Given the description of an element on the screen output the (x, y) to click on. 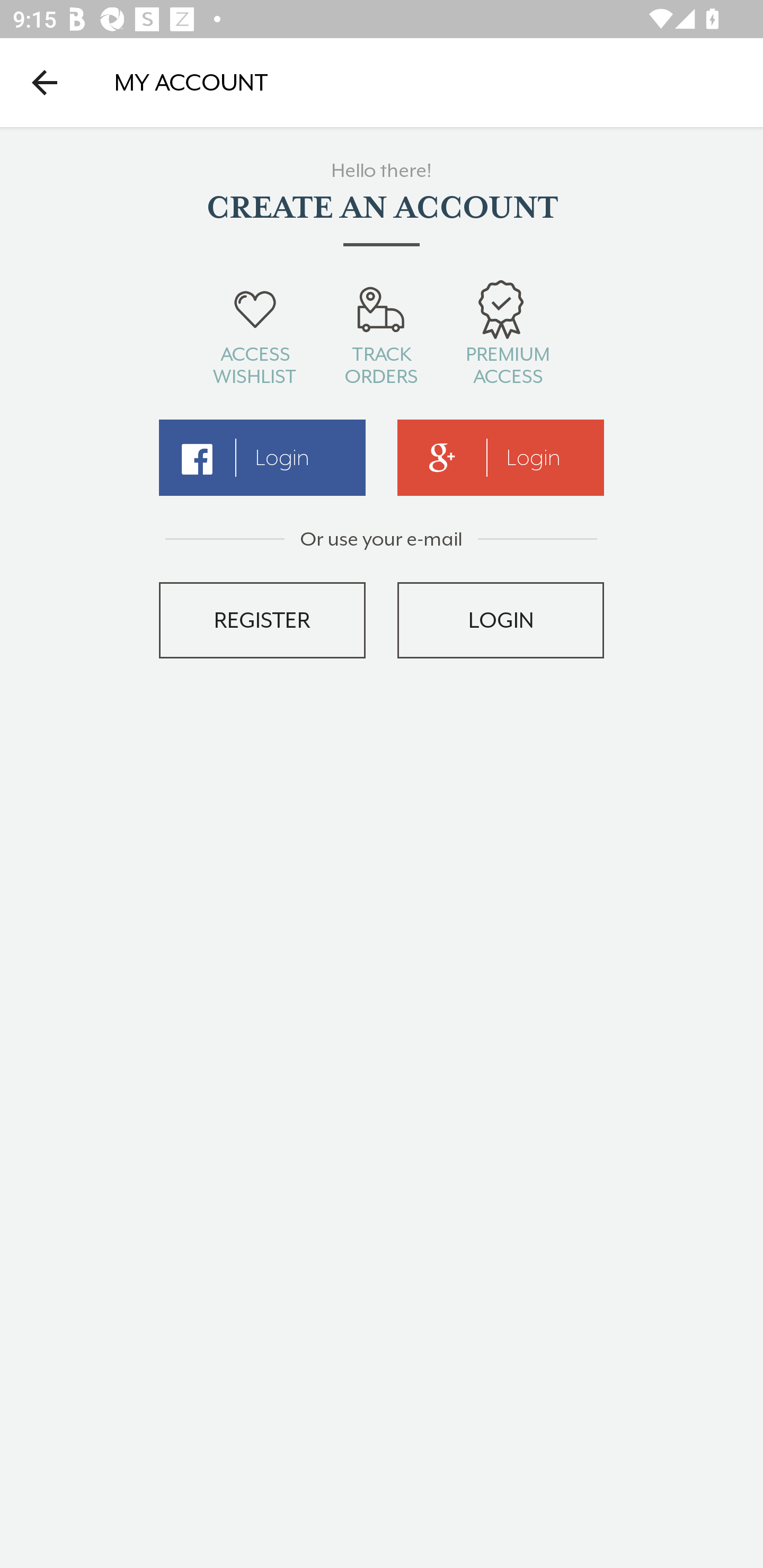
Navigate up (44, 82)
 Login (261, 457)
Login (500, 457)
REGISTER (261, 619)
LOGIN (500, 619)
